Given the description of an element on the screen output the (x, y) to click on. 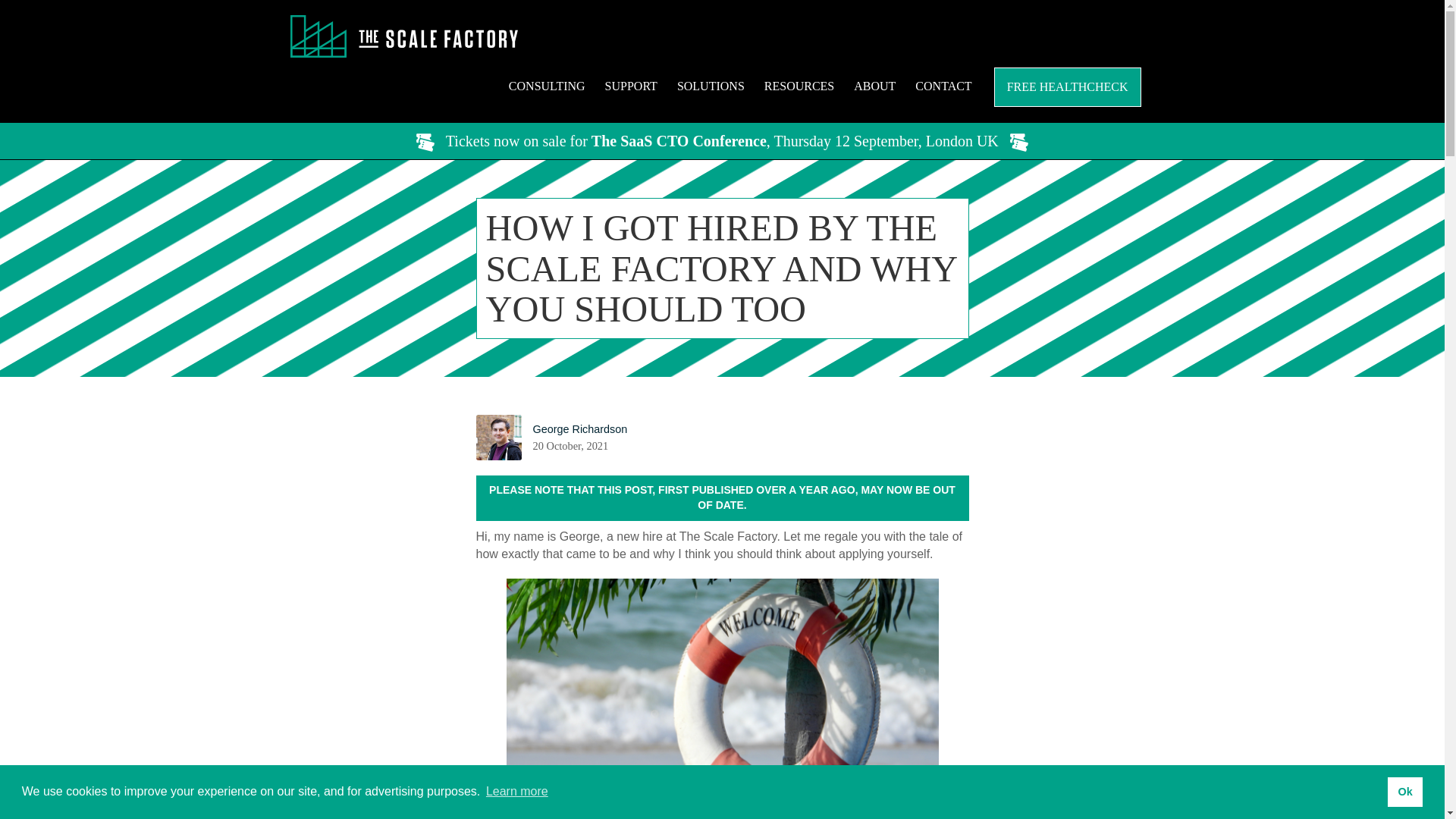
CONSULTING (546, 86)
Ok (1404, 791)
SUPPORT (631, 86)
Learn more (516, 791)
Home (402, 36)
